Given the description of an element on the screen output the (x, y) to click on. 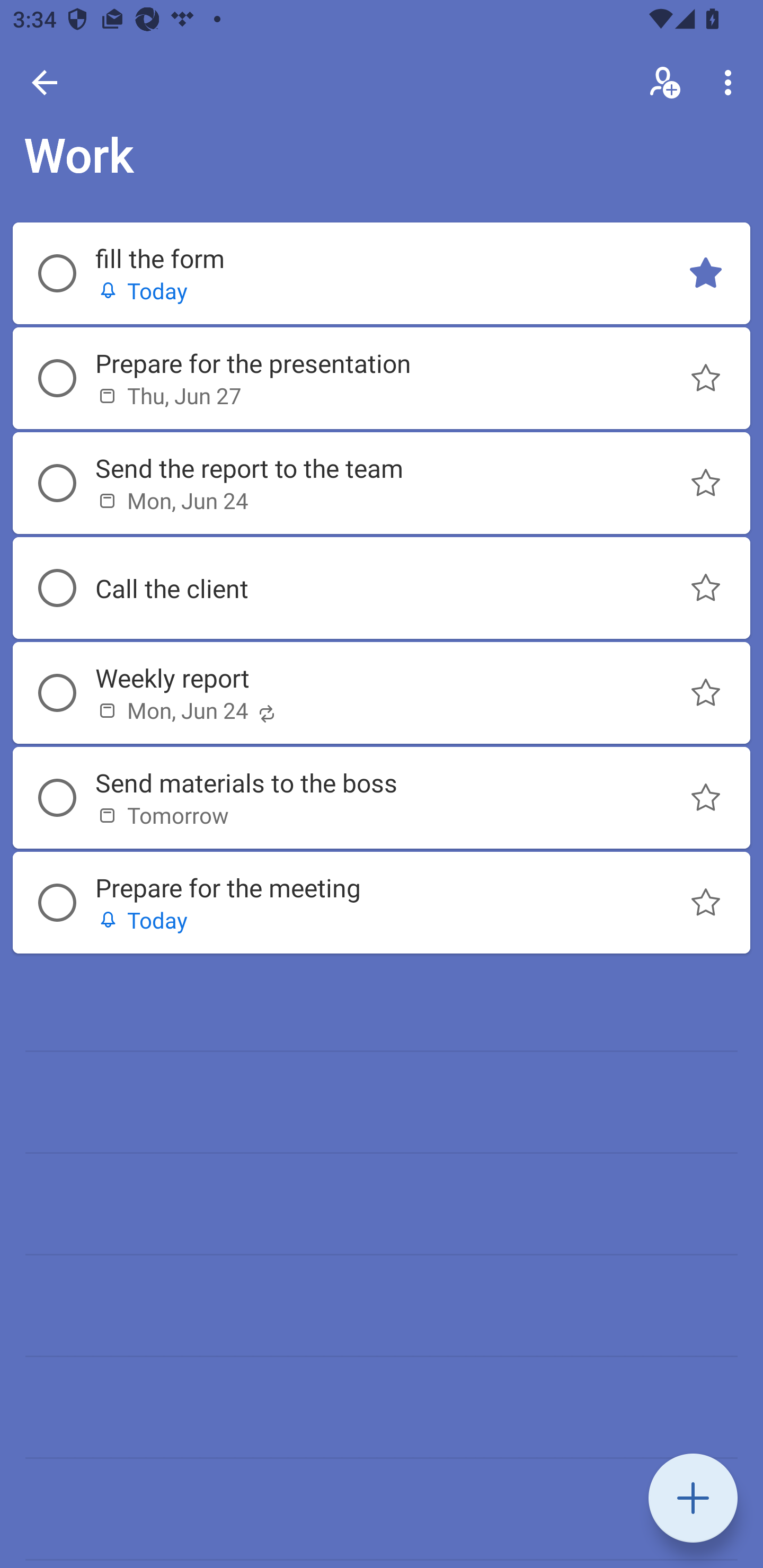
Add a task (692, 1497)
